Given the description of an element on the screen output the (x, y) to click on. 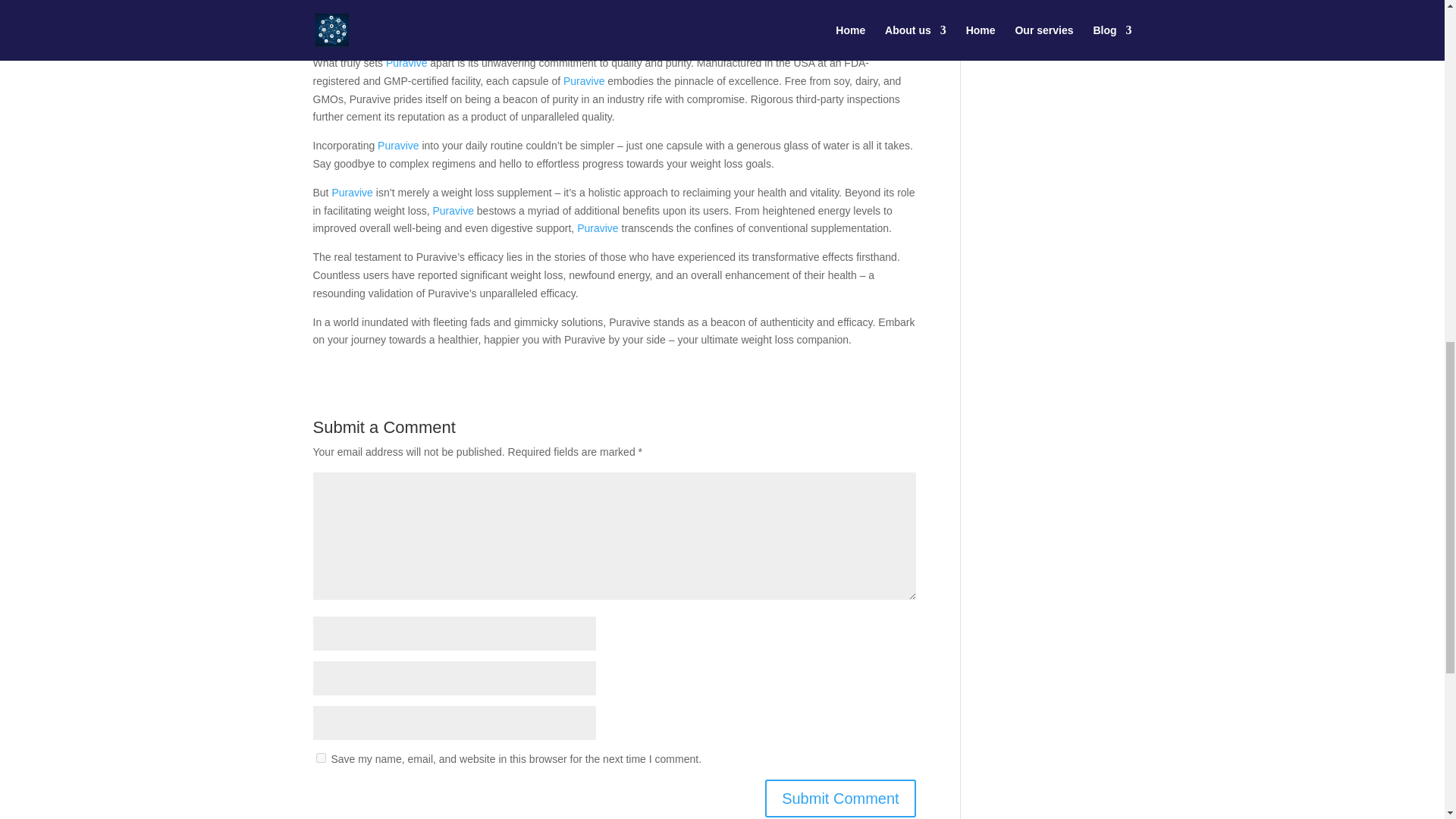
yes (319, 757)
Puravive (405, 62)
Puravive (351, 192)
Puravive (452, 210)
Puravive (651, 2)
Puravive (583, 80)
Puravive (596, 227)
Puravive (398, 145)
Submit Comment (840, 798)
Submit Comment (840, 798)
